Given the description of an element on the screen output the (x, y) to click on. 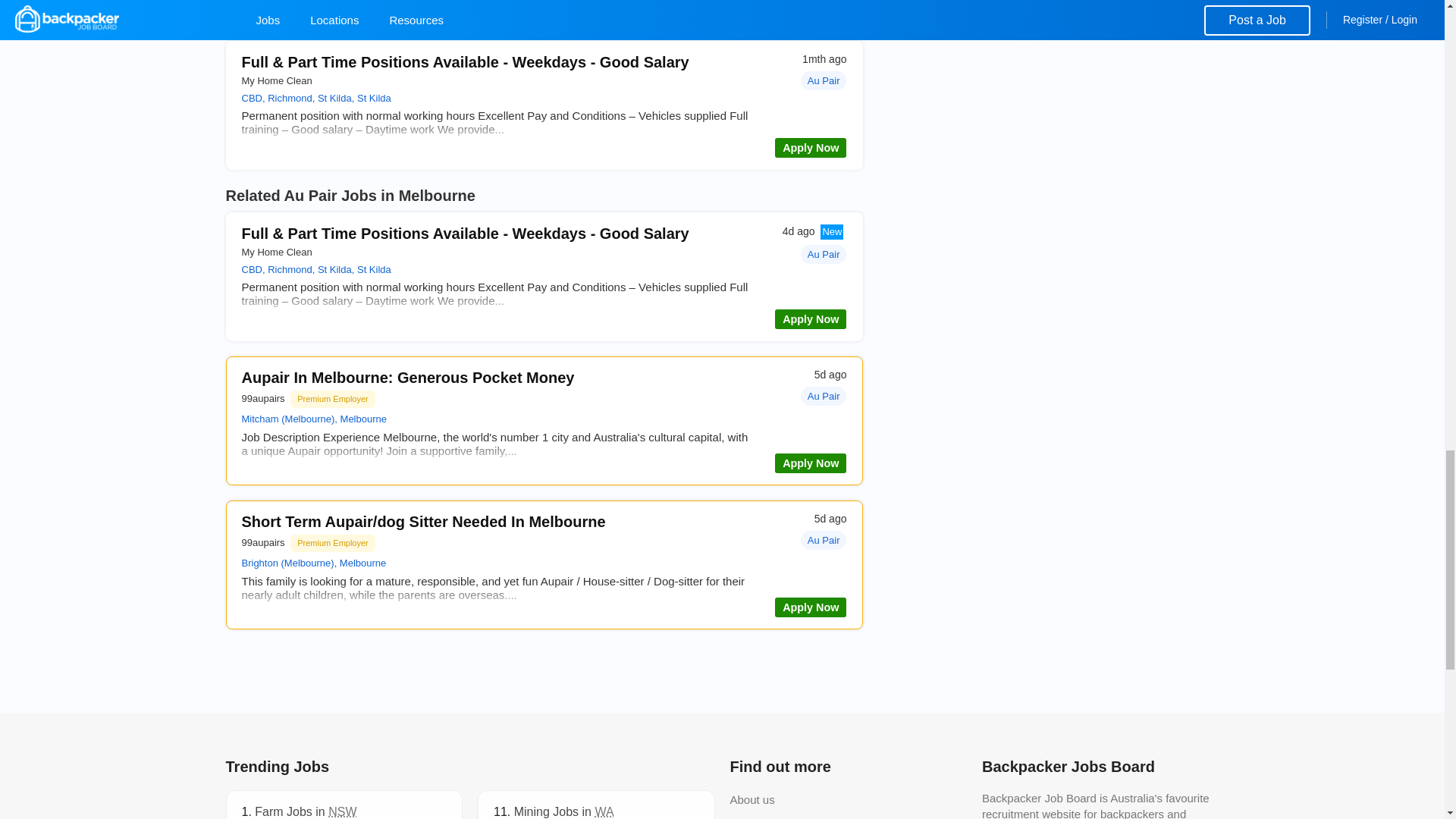
Apply Now (809, 463)
Aupair In Melbourne: Generous Pocket Money (809, 463)
Apply Now (809, 319)
Apply Now (809, 607)
Apply Now (809, 148)
Farm Jobs in NSW (305, 811)
Apply Now (809, 6)
Aupair In Melbourne: Generous Pocket Money (407, 377)
Aupair In Melbourne: Generous Pocket Money (407, 377)
